Given the description of an element on the screen output the (x, y) to click on. 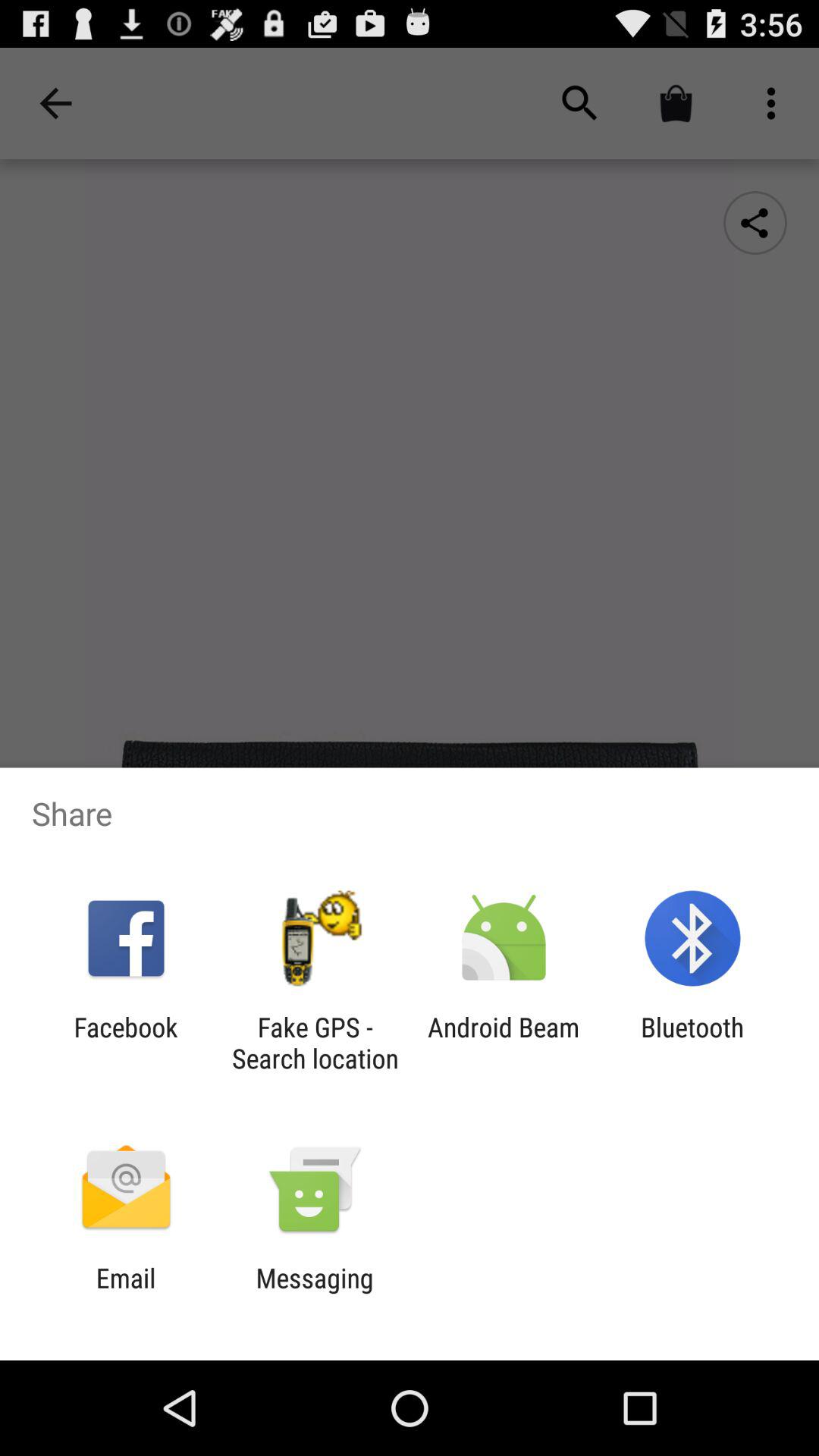
scroll until email item (125, 1293)
